Given the description of an element on the screen output the (x, y) to click on. 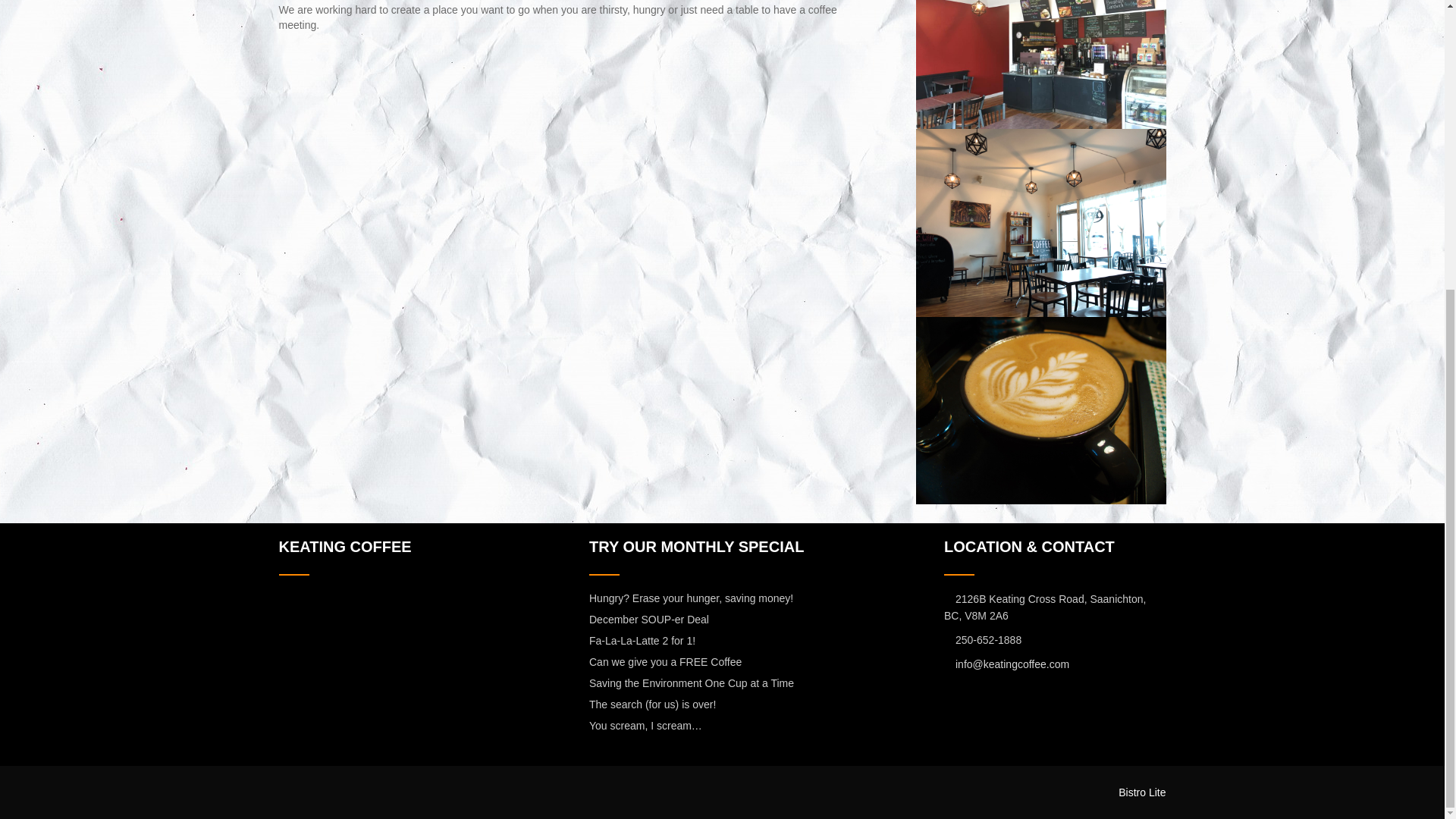
Hungry? Erase your hunger, saving money! (691, 598)
Can we give you a FREE Coffee (665, 662)
Saving the Environment One Cup at a Time (691, 683)
Fa-La-La-Latte 2 for 1! (642, 640)
December SOUP-er Deal (649, 619)
